Given the description of an element on the screen output the (x, y) to click on. 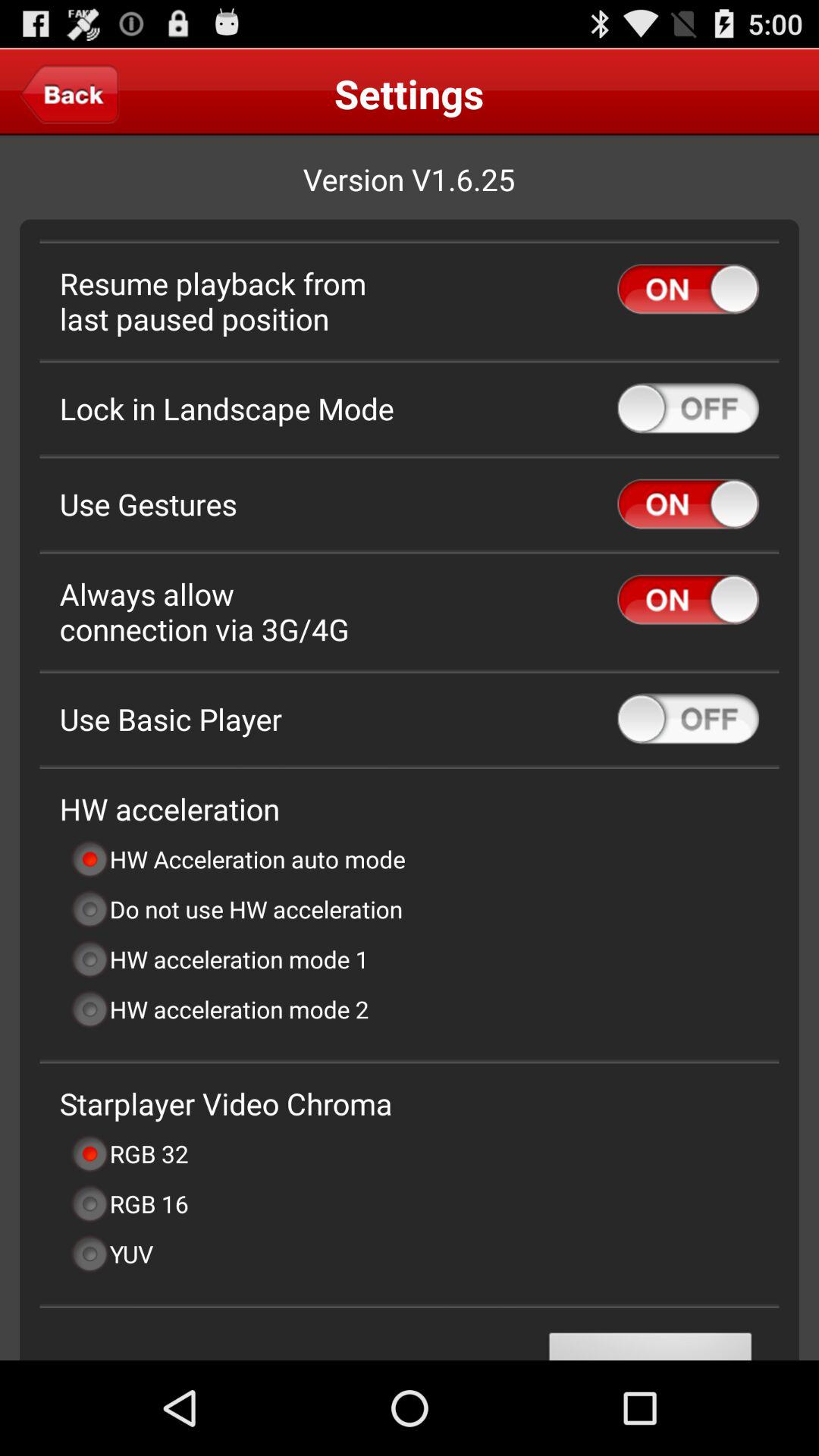
swipe to the rgb 32 radio button (128, 1153)
